Given the description of an element on the screen output the (x, y) to click on. 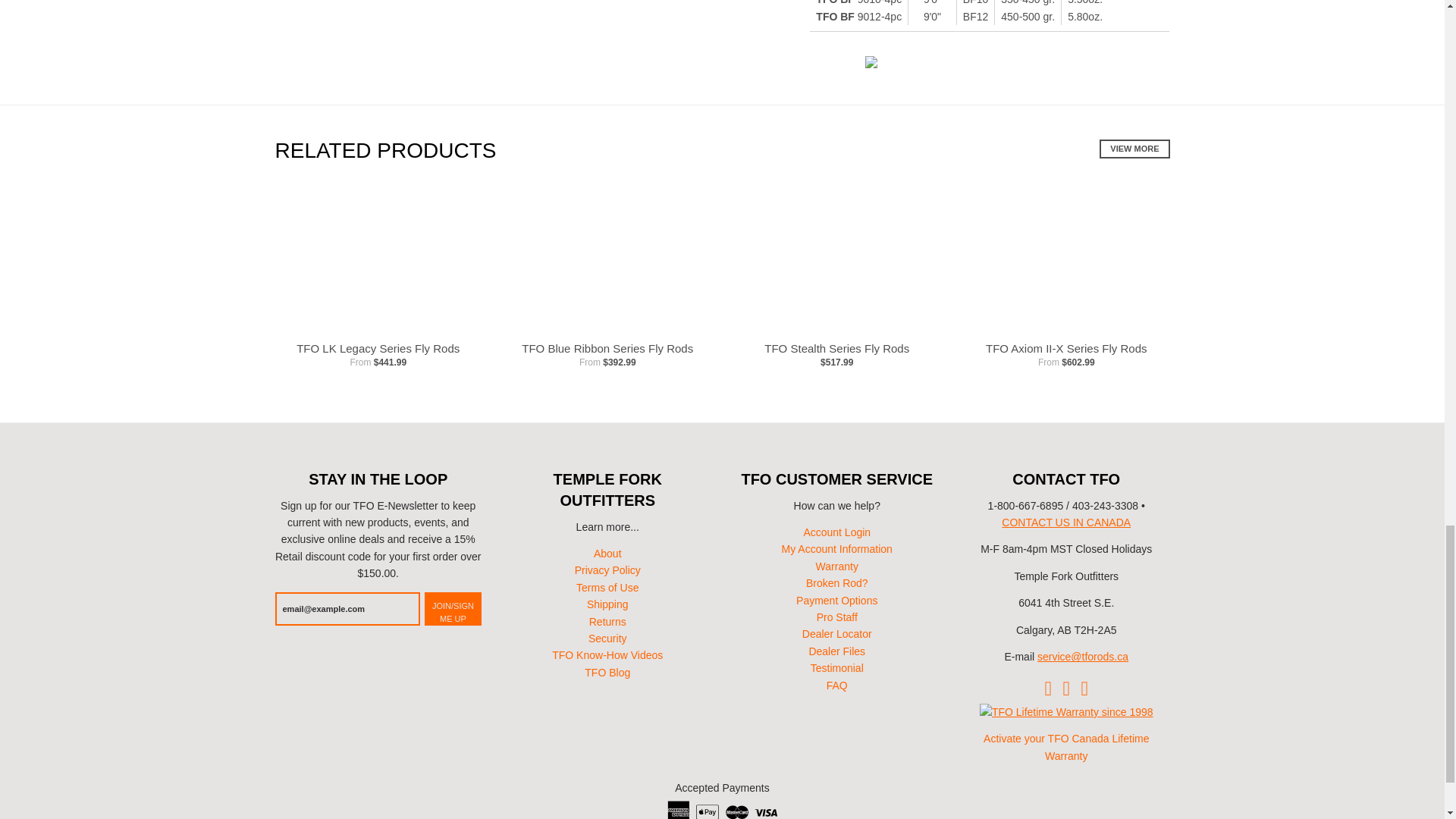
Temple Fork Outfitters Canada on Facebook (1066, 687)
Temple Fork Outfitters Canada on Instagram (1085, 687)
Temple Fork Outfitters Canada on Twitter (1047, 687)
